Given the description of an element on the screen output the (x, y) to click on. 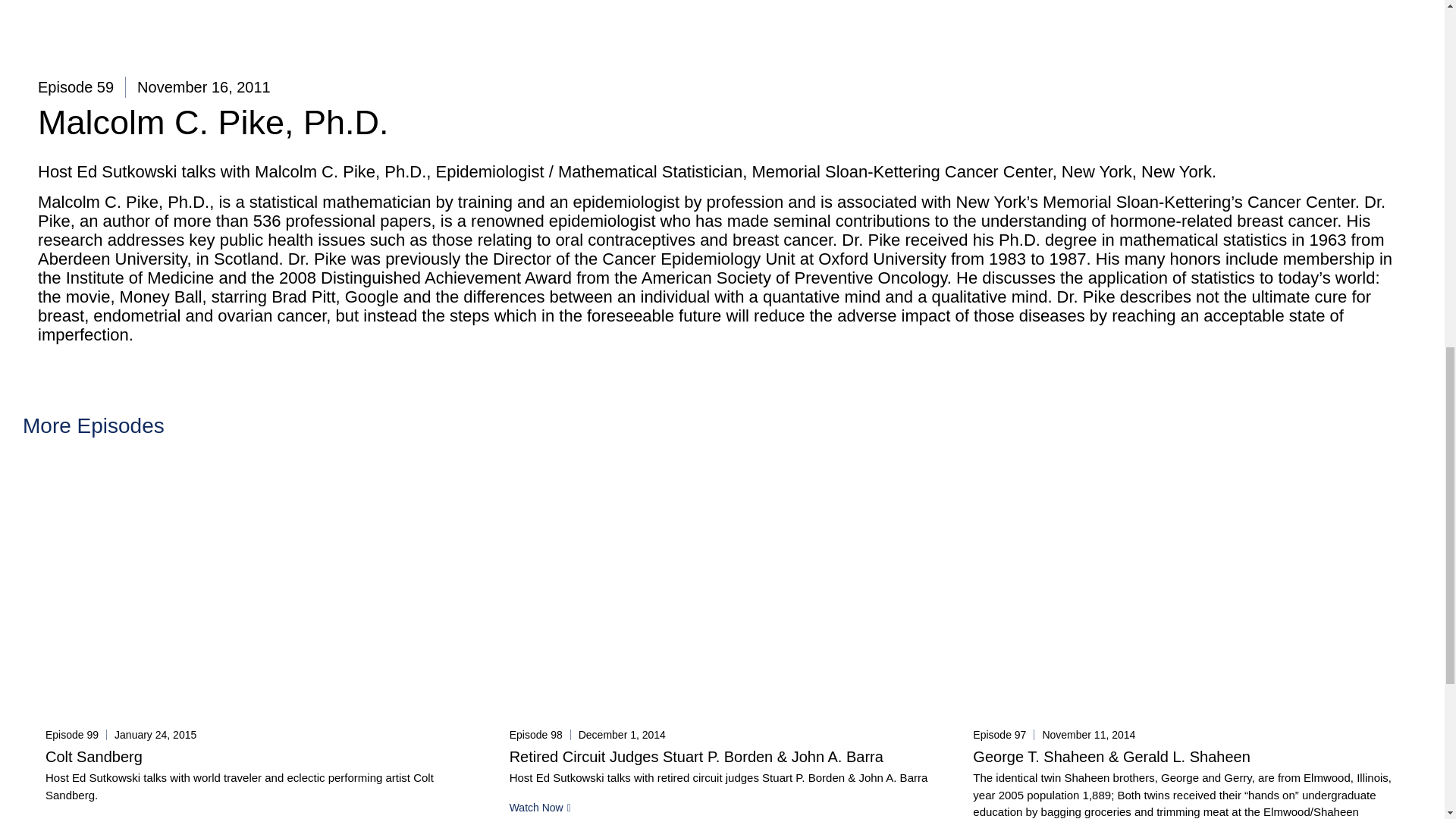
Colt Sandberg (93, 756)
Watch Now (539, 808)
